Given the description of an element on the screen output the (x, y) to click on. 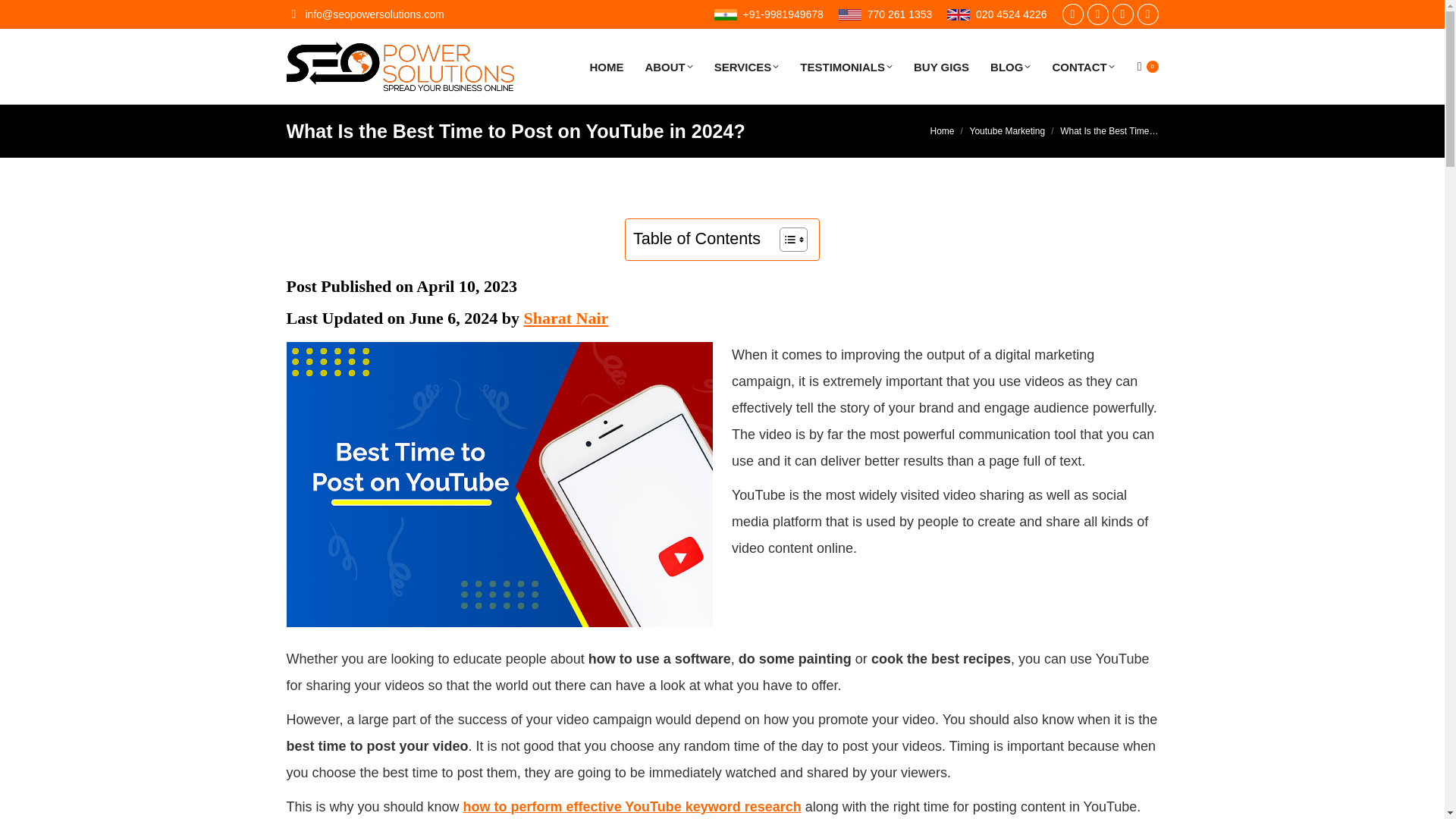
SERVICES (746, 66)
Facebook page opens in new window (1072, 14)
X page opens in new window (1097, 14)
Home (941, 131)
X page opens in new window (1097, 14)
YouTube page opens in new window (1147, 14)
Facebook page opens in new window (1072, 14)
Youtube Marketing (1007, 131)
Linkedin page opens in new window (1123, 14)
  770 261 1353 (884, 14)
